Given the description of an element on the screen output the (x, y) to click on. 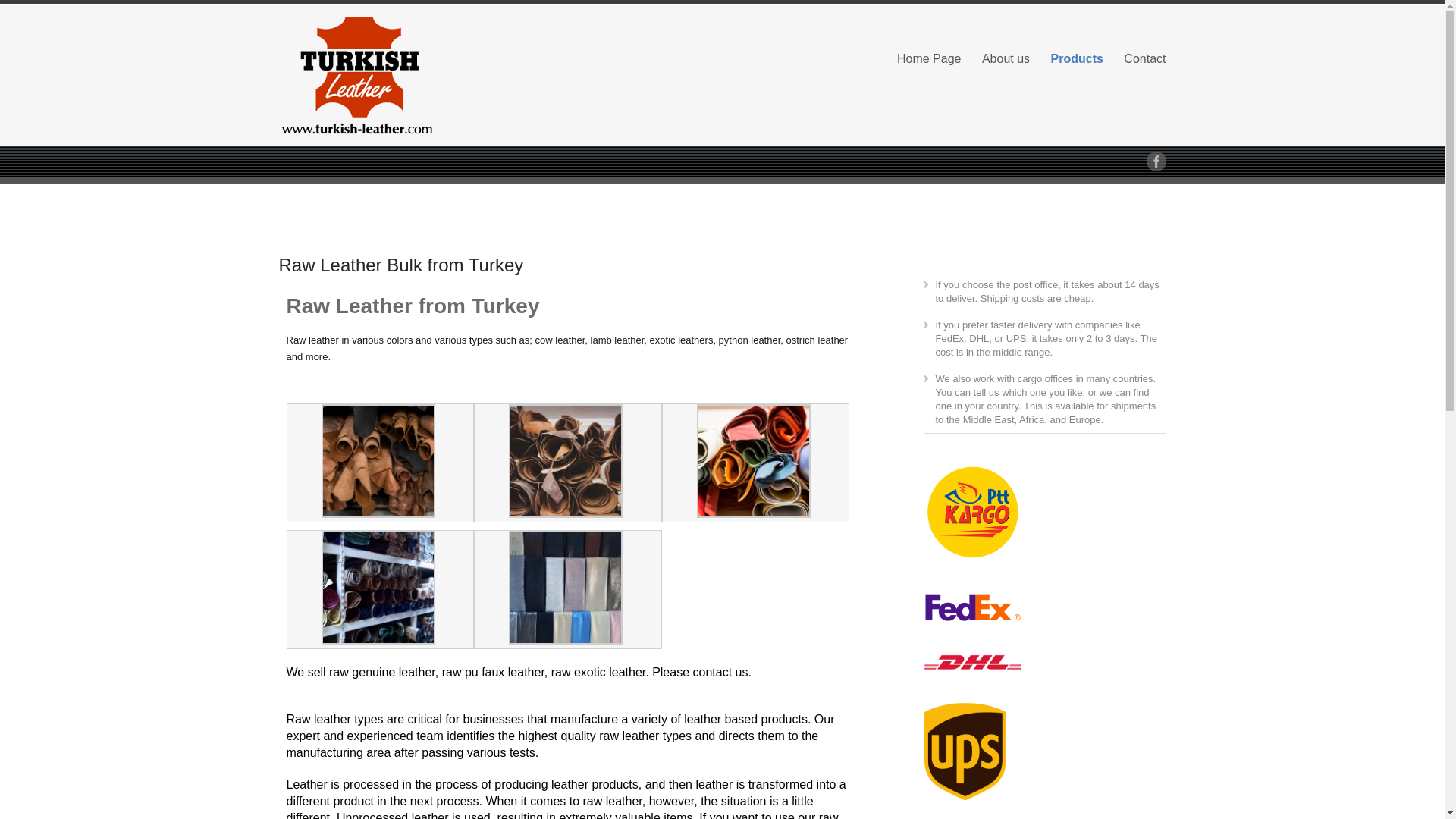
Home Page (928, 58)
Products (1077, 58)
Turkish Leather (419, 75)
Contact (1145, 58)
About us (1005, 58)
